Given the description of an element on the screen output the (x, y) to click on. 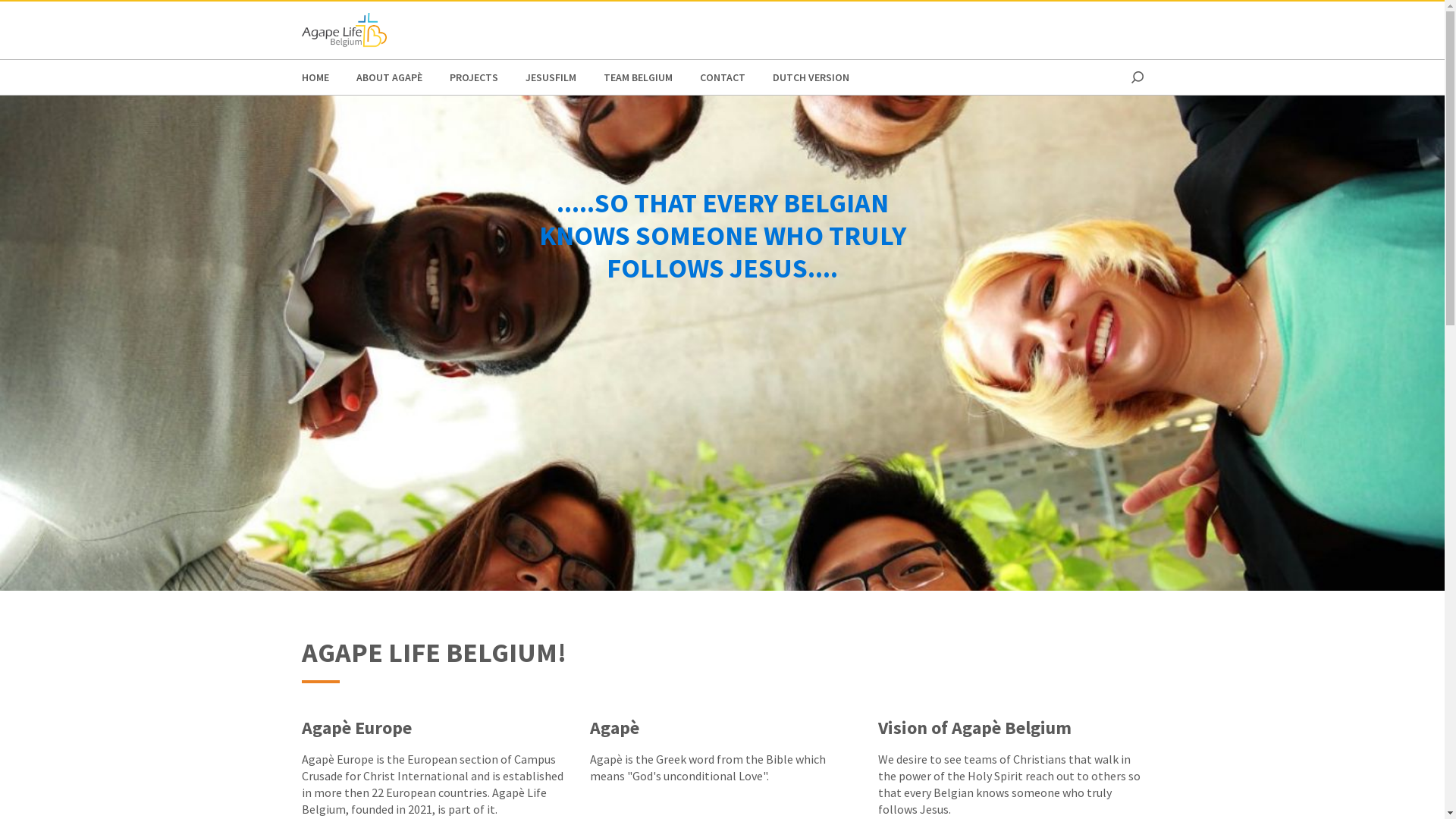
CONTACT Element type: text (721, 76)
PROJECTS Element type: text (472, 76)
TEAM BELGIUM Element type: text (637, 76)
DUTCH VERSION Element type: text (809, 76)
JESUSFILM Element type: text (549, 76)
HOME Element type: text (315, 76)
